Given the description of an element on the screen output the (x, y) to click on. 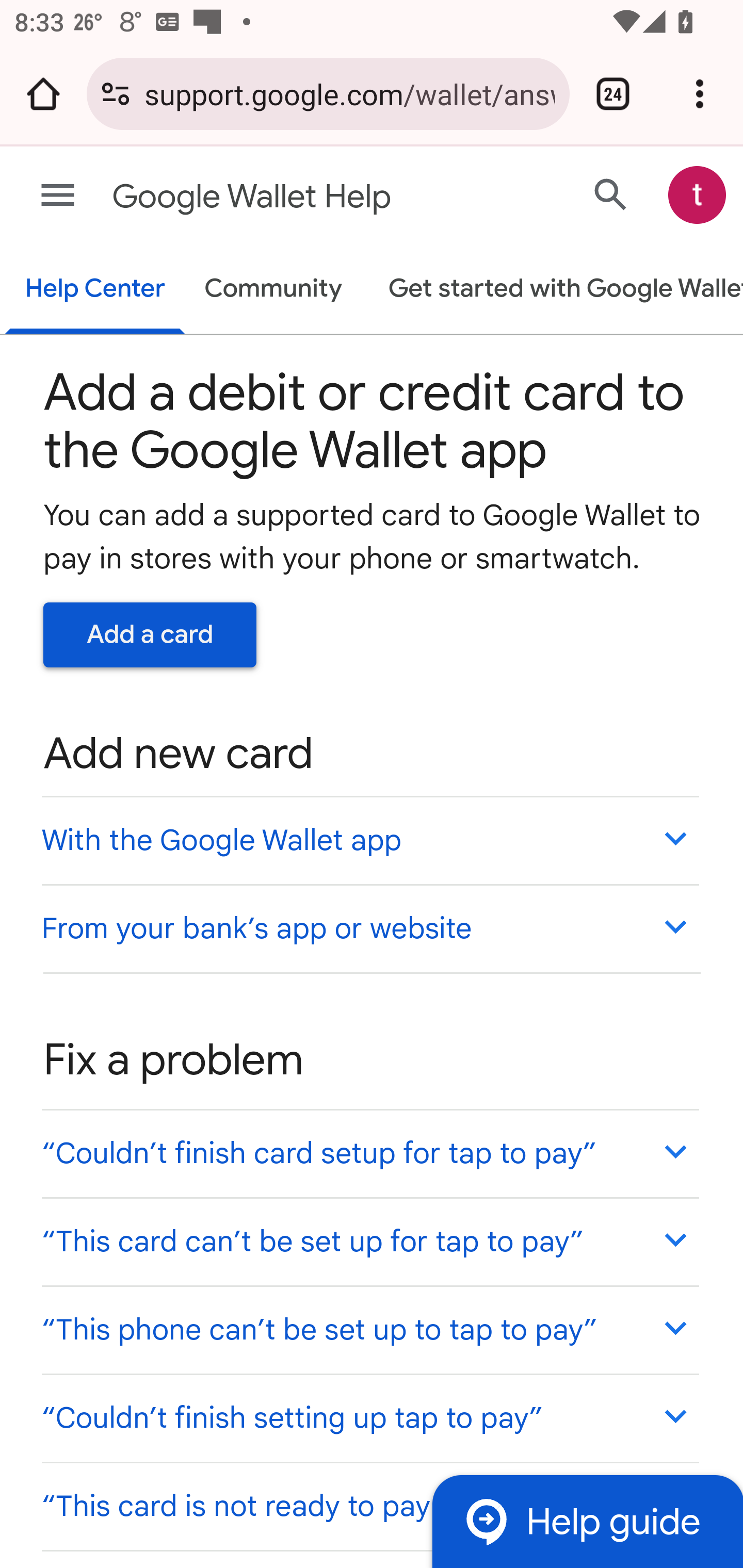
Open the home page (43, 93)
Connection is secure (115, 93)
Switch or close tabs (612, 93)
Customize and control Google Chrome (699, 93)
Main menu (58, 195)
Google Wallet Help (292, 197)
Search Help Center (611, 194)
Help Center (94, 289)
Community (273, 289)
Get started with Google Wallet (555, 289)
Add a card (150, 633)
With the Google Wallet app (369, 839)
From your bank’s app or website (369, 927)
“Couldn’t finish card setup for tap to pay” (369, 1152)
“This card can’t be set up for tap to pay” (369, 1240)
“This phone can’t be set up to tap to pay” (369, 1329)
“Couldn’t finish setting up tap to pay” (369, 1417)
“This card is not ready to pay online” (369, 1504)
Help guide (587, 1520)
